Given the description of an element on the screen output the (x, y) to click on. 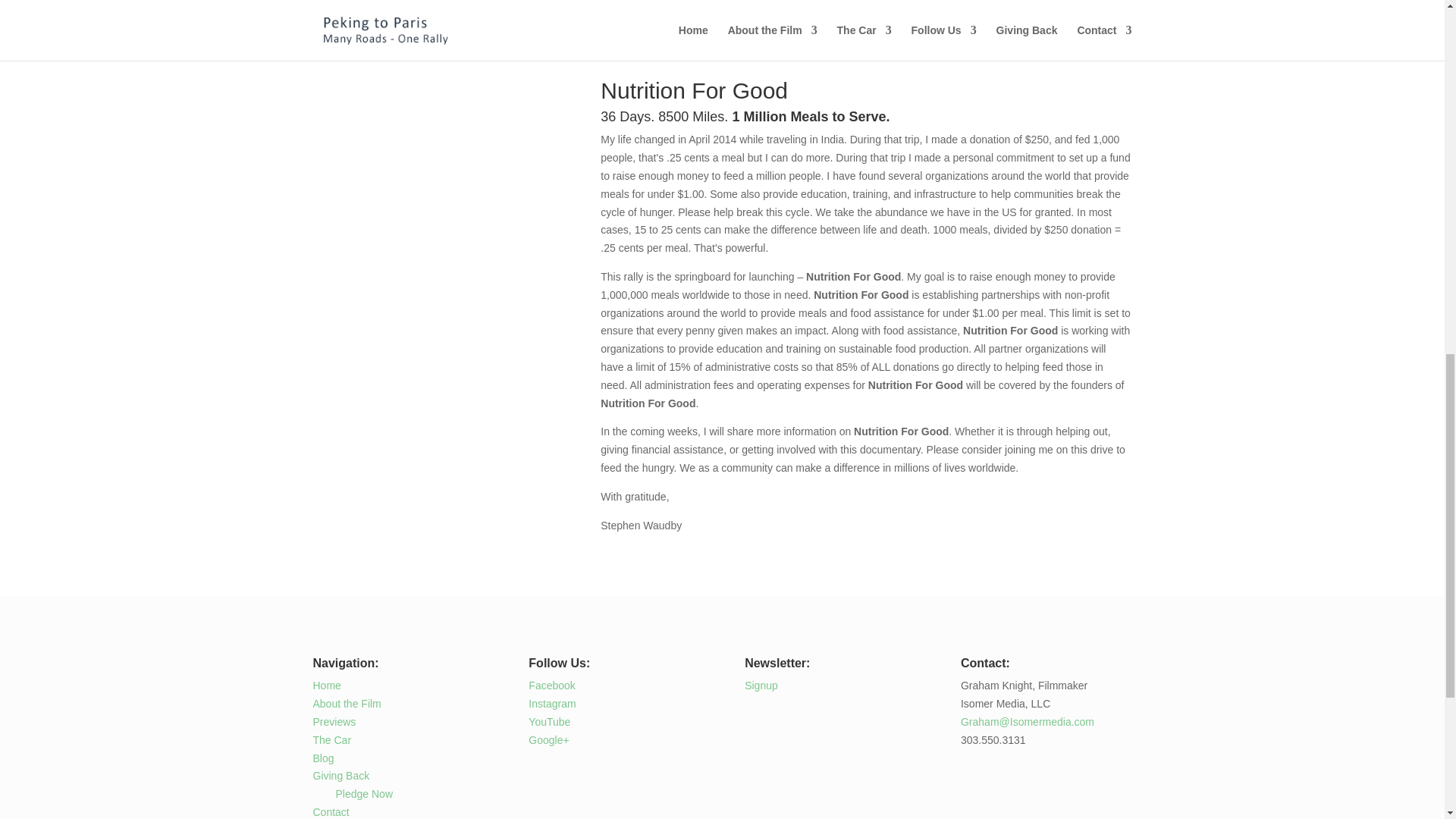
The Car (331, 739)
Home (326, 685)
About the Film (346, 703)
Previews (334, 721)
